Given the description of an element on the screen output the (x, y) to click on. 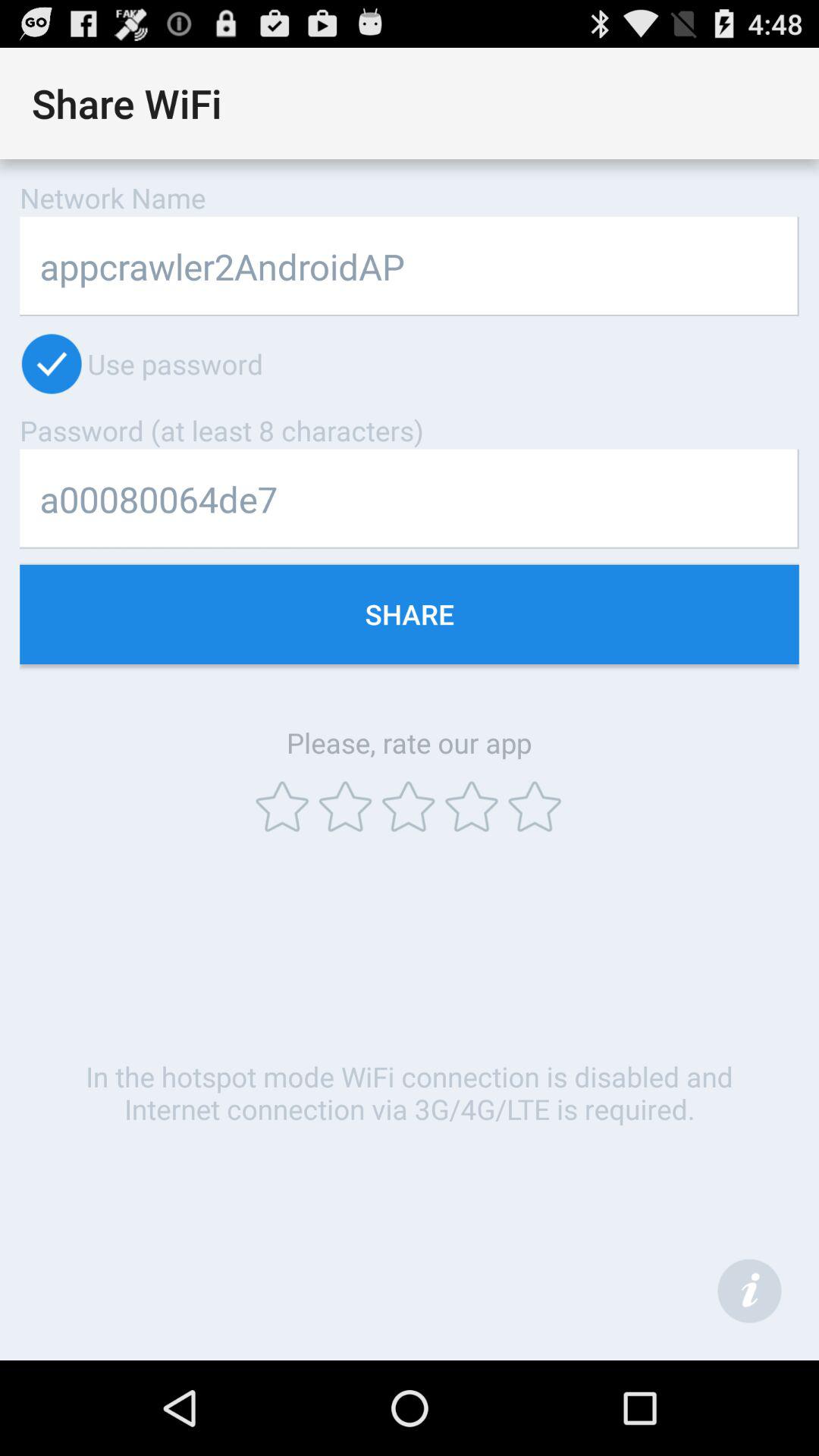
turn off the item below share (749, 1290)
